Given the description of an element on the screen output the (x, y) to click on. 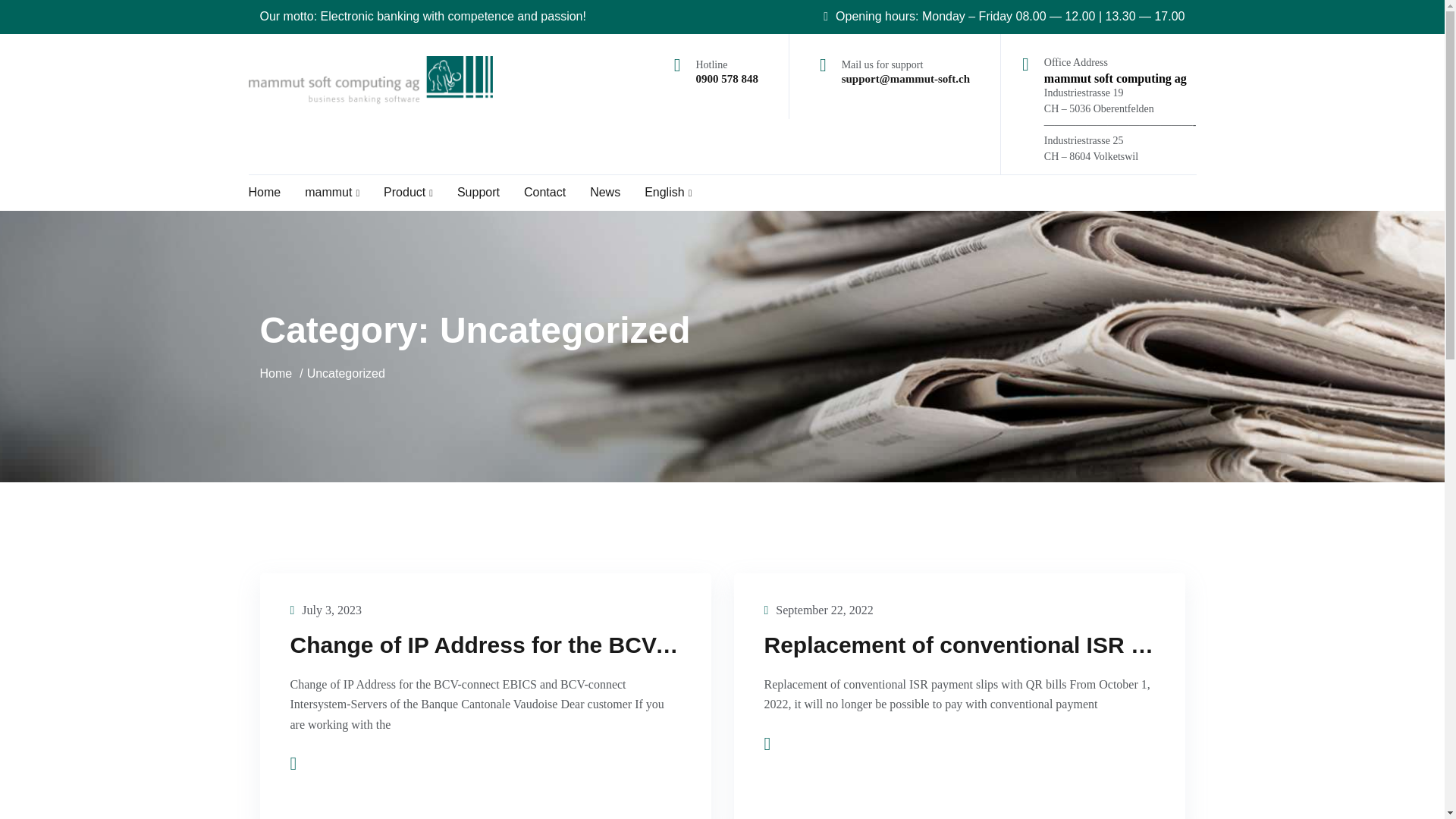
13258 (346, 373)
0900 578 848 (726, 78)
Support (478, 192)
Contact (545, 192)
English (668, 192)
News (604, 192)
Home (264, 192)
Product (408, 192)
Home (275, 373)
mammut (331, 192)
